Given the description of an element on the screen output the (x, y) to click on. 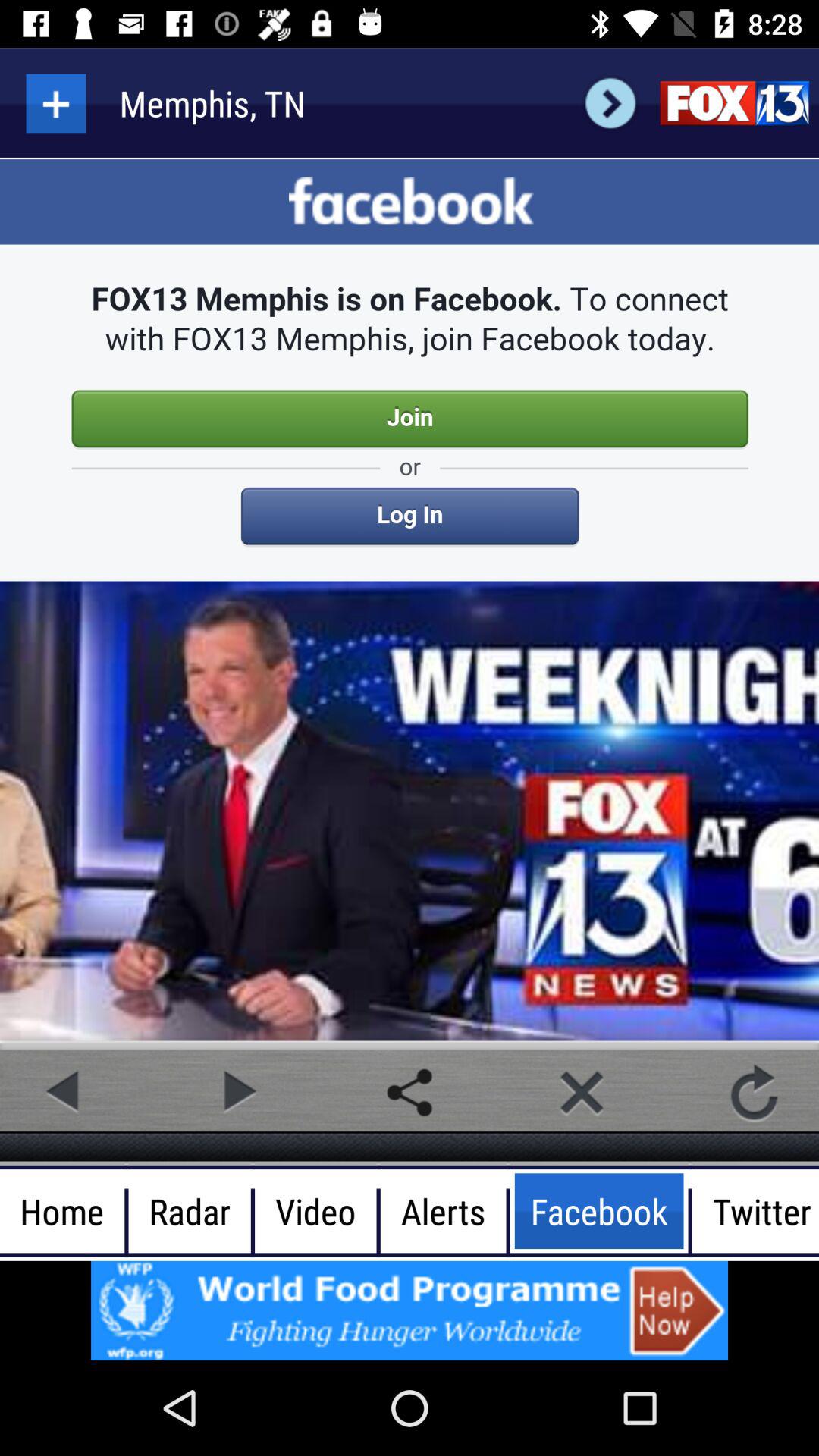
click to more details (55, 103)
